Given the description of an element on the screen output the (x, y) to click on. 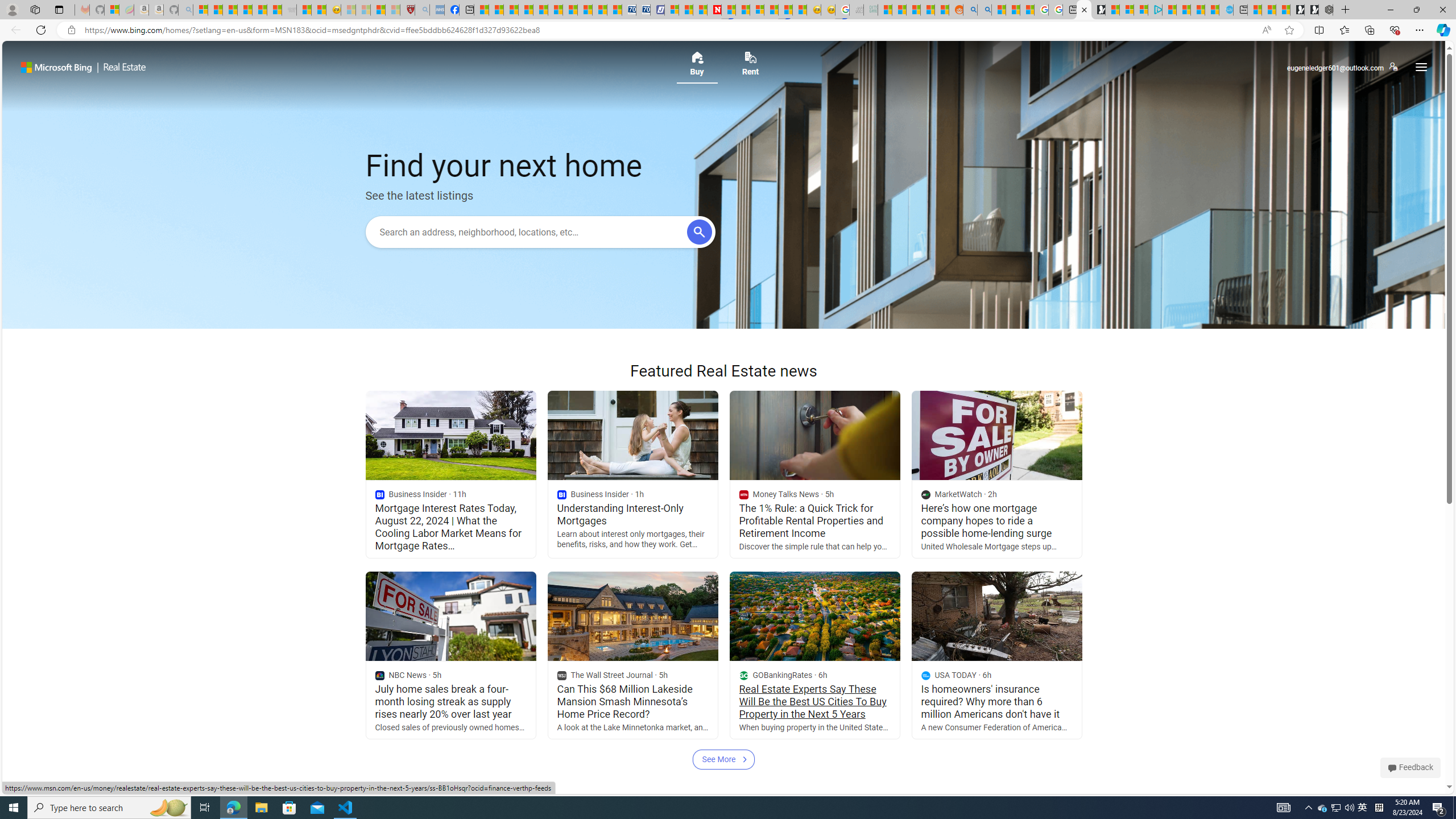
Microsoft Bing (55, 66)
Climate Damage Becomes Too Severe To Reverse (525, 9)
DITOGAMES AG Imprint - Sleeping (870, 9)
World - MSN (510, 9)
